Given the description of an element on the screen output the (x, y) to click on. 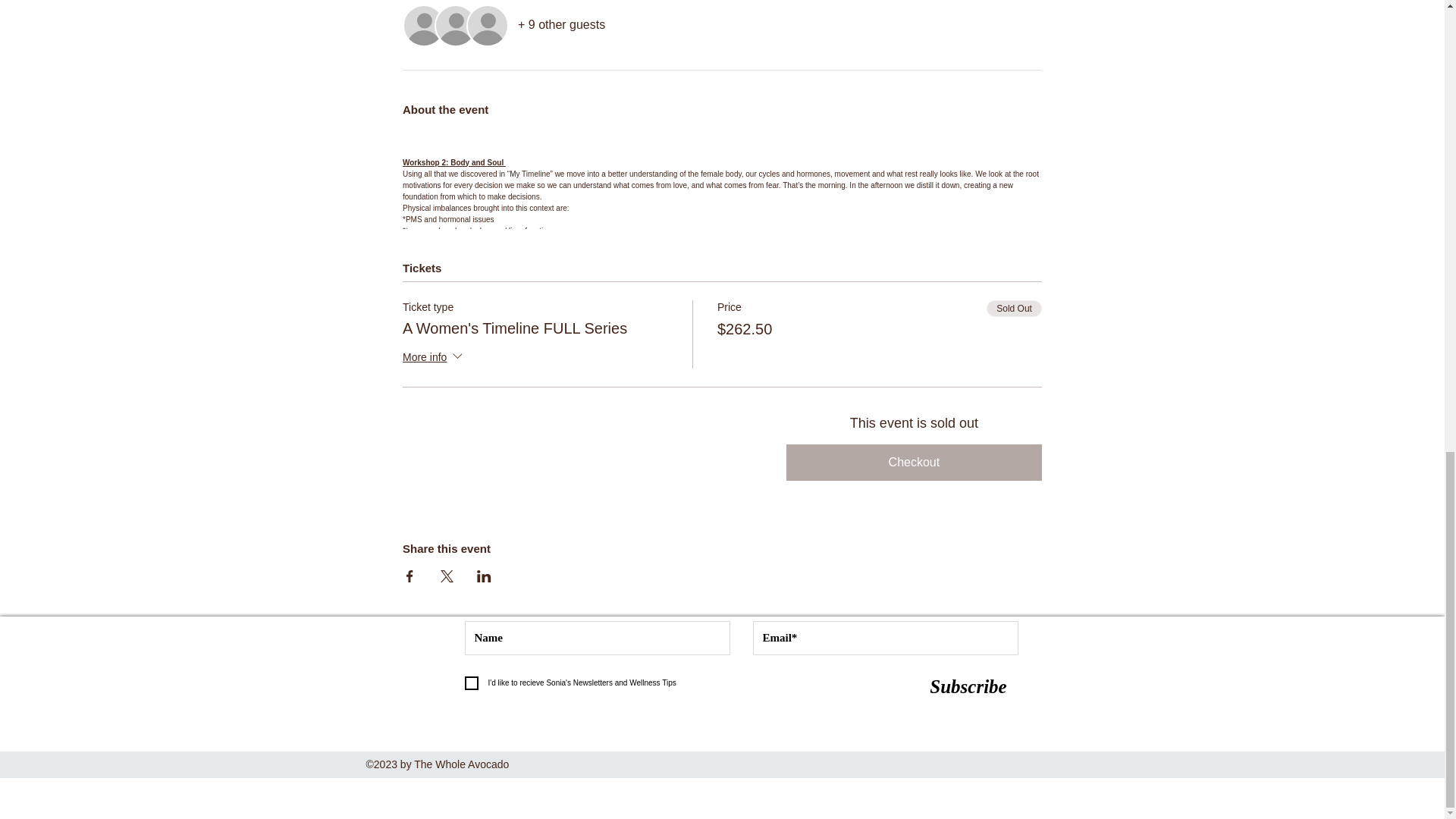
Subscribe (967, 686)
More info (434, 358)
Checkout (914, 462)
